Given the description of an element on the screen output the (x, y) to click on. 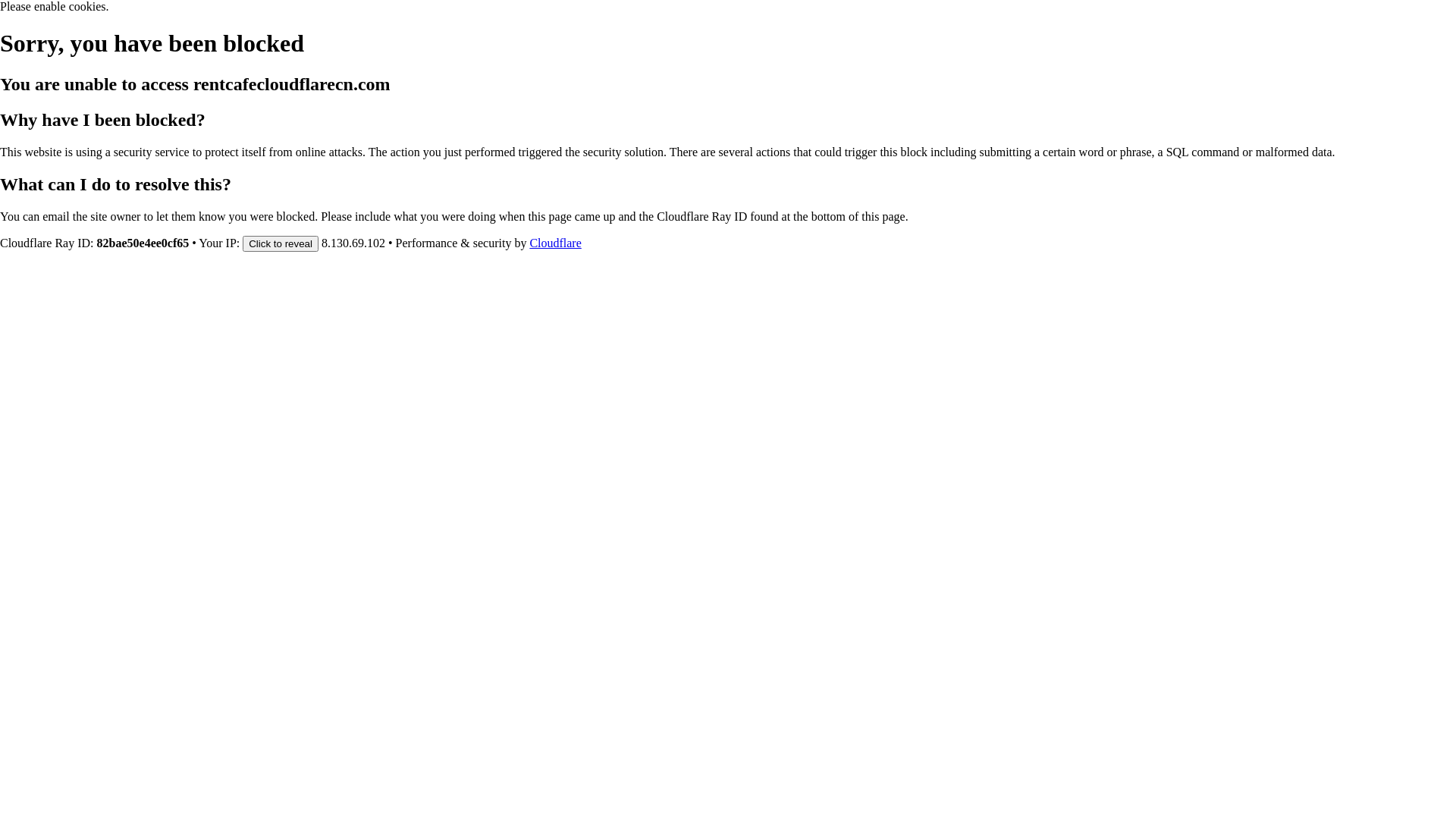
Cloudflare Element type: text (554, 242)
Click to reveal Element type: text (280, 243)
